Given the description of an element on the screen output the (x, y) to click on. 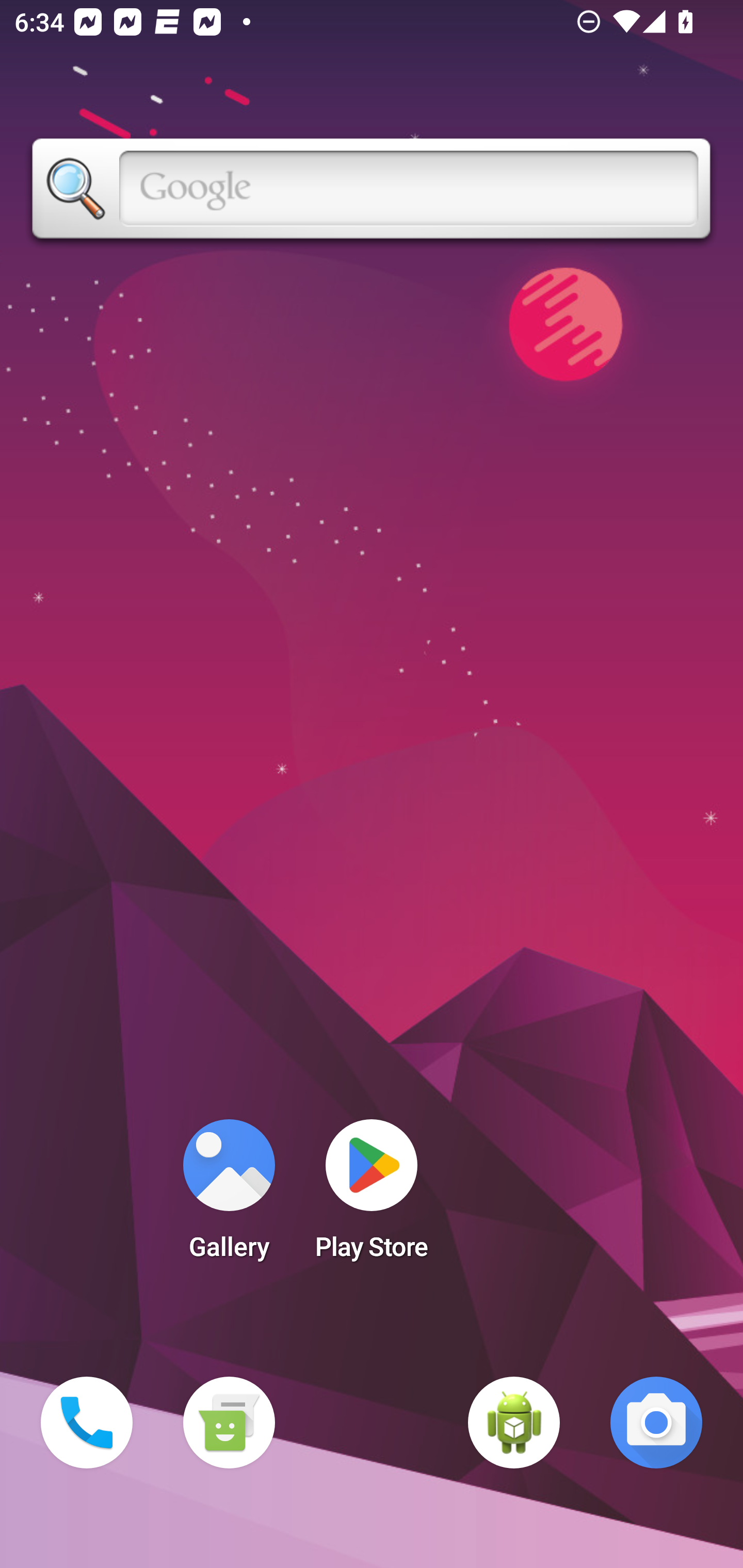
Gallery (228, 1195)
Play Store (371, 1195)
Phone (86, 1422)
Messaging (228, 1422)
WebView Browser Tester (513, 1422)
Camera (656, 1422)
